Given the description of an element on the screen output the (x, y) to click on. 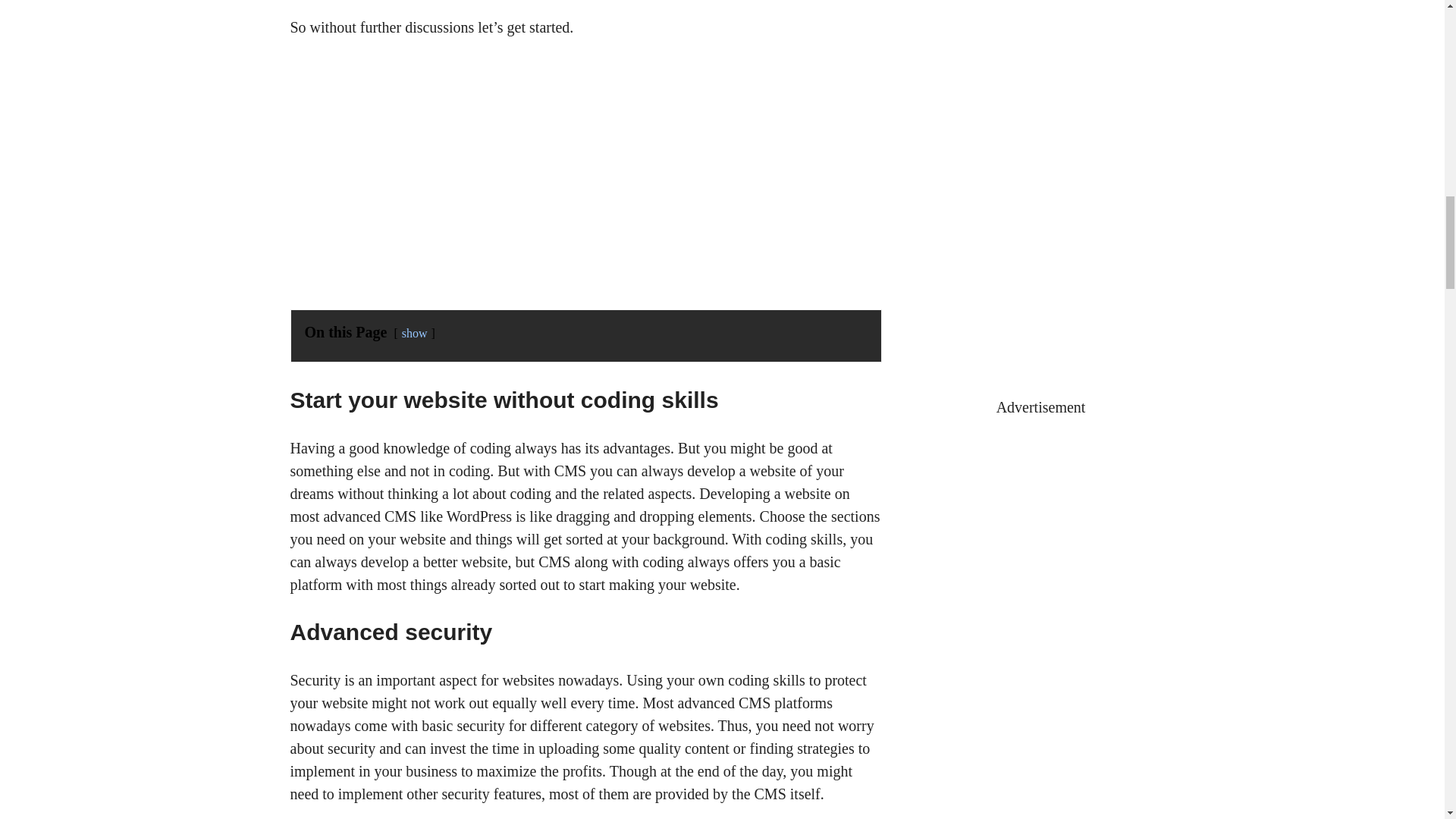
show (414, 332)
